Given the description of an element on the screen output the (x, y) to click on. 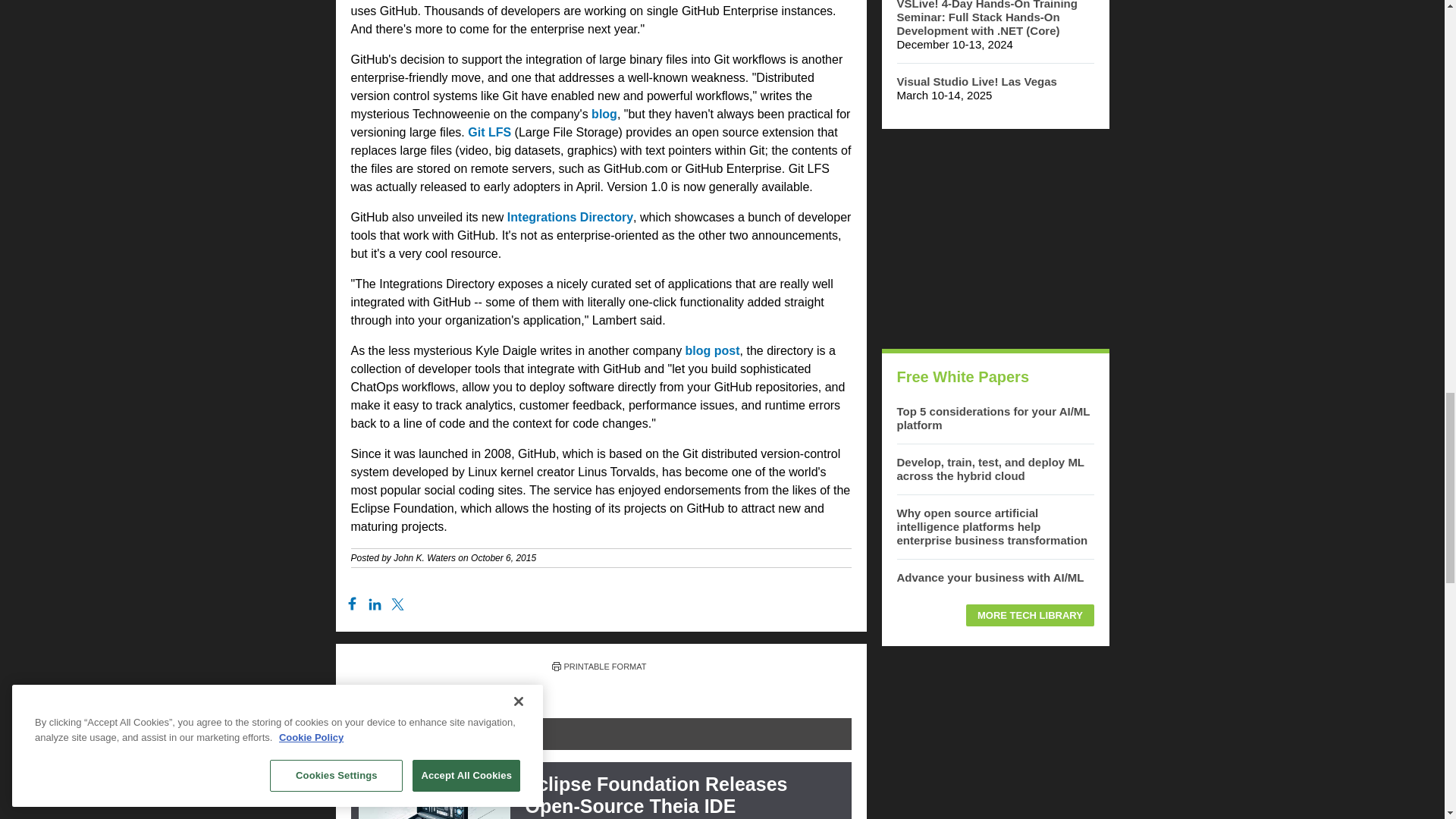
3rd party ad content (994, 238)
3rd party ad content (994, 739)
blog post (712, 350)
blog (604, 113)
Git LFS (489, 132)
Integrations Directory (569, 216)
